Given the description of an element on the screen output the (x, y) to click on. 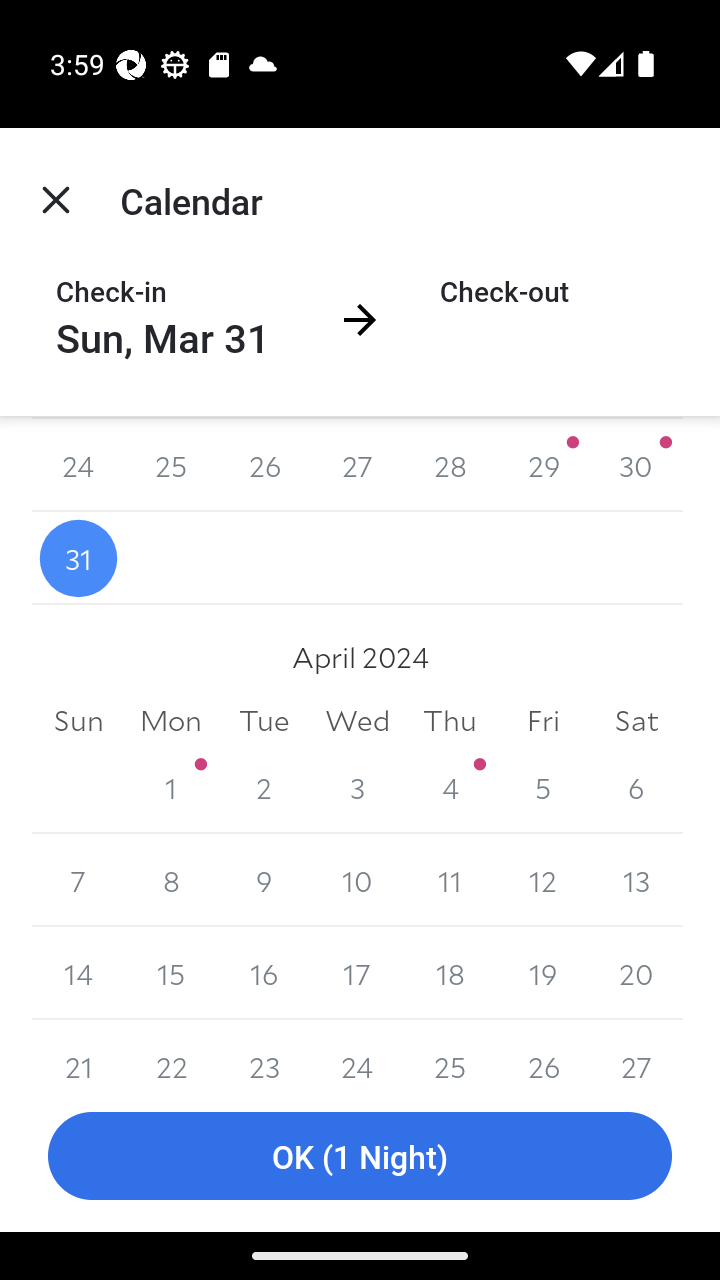
24 24 March 2024 (78, 465)
25 25 March 2024 (171, 465)
26 26 March 2024 (264, 465)
27 27 March 2024 (357, 465)
28 28 March 2024 (449, 465)
29 29 March 2024 (542, 465)
30 30 March 2024 (636, 465)
31 31 March 2024 (78, 558)
Sun (78, 720)
Mon (171, 720)
Tue (264, 720)
Wed (357, 720)
Thu (449, 720)
Fri (542, 720)
Sat (636, 720)
1 1 April 2024 (171, 787)
2 2 April 2024 (264, 787)
3 3 April 2024 (357, 787)
4 4 April 2024 (449, 787)
5 5 April 2024 (542, 787)
6 6 April 2024 (636, 787)
7 7 April 2024 (78, 880)
8 8 April 2024 (171, 880)
9 9 April 2024 (264, 880)
10 10 April 2024 (357, 880)
11 11 April 2024 (449, 880)
12 12 April 2024 (542, 880)
13 13 April 2024 (636, 880)
14 14 April 2024 (78, 973)
15 15 April 2024 (171, 973)
16 16 April 2024 (264, 973)
17 17 April 2024 (357, 973)
18 18 April 2024 (449, 973)
19 19 April 2024 (542, 973)
20 20 April 2024 (636, 973)
21 21 April 2024 (78, 1050)
22 22 April 2024 (171, 1050)
23 23 April 2024 (264, 1050)
24 24 April 2024 (357, 1050)
25 25 April 2024 (449, 1050)
26 26 April 2024 (542, 1050)
27 27 April 2024 (636, 1050)
OK (1 Night) (359, 1156)
